Given the description of an element on the screen output the (x, y) to click on. 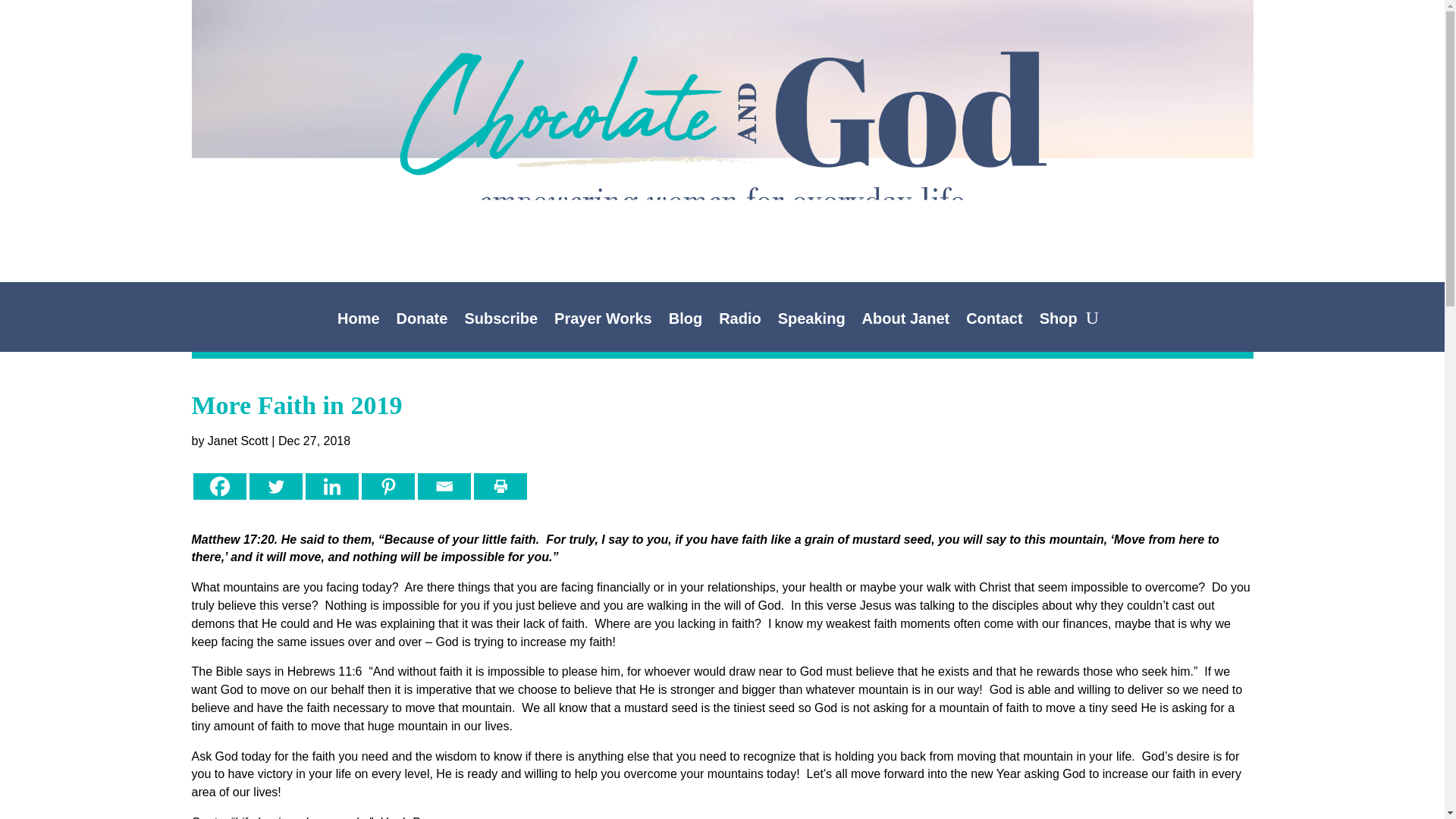
Print (499, 486)
Email (443, 486)
Prayer Works (603, 321)
Posts by Janet Scott (237, 440)
About Janet (905, 321)
Radio (740, 321)
Pinterest (387, 486)
Contact (994, 321)
Home (358, 321)
Subscribe (500, 321)
Linkedin (331, 486)
Donate (422, 321)
Janet Scott (237, 440)
main-logo (721, 111)
Speaking (811, 321)
